Given the description of an element on the screen output the (x, y) to click on. 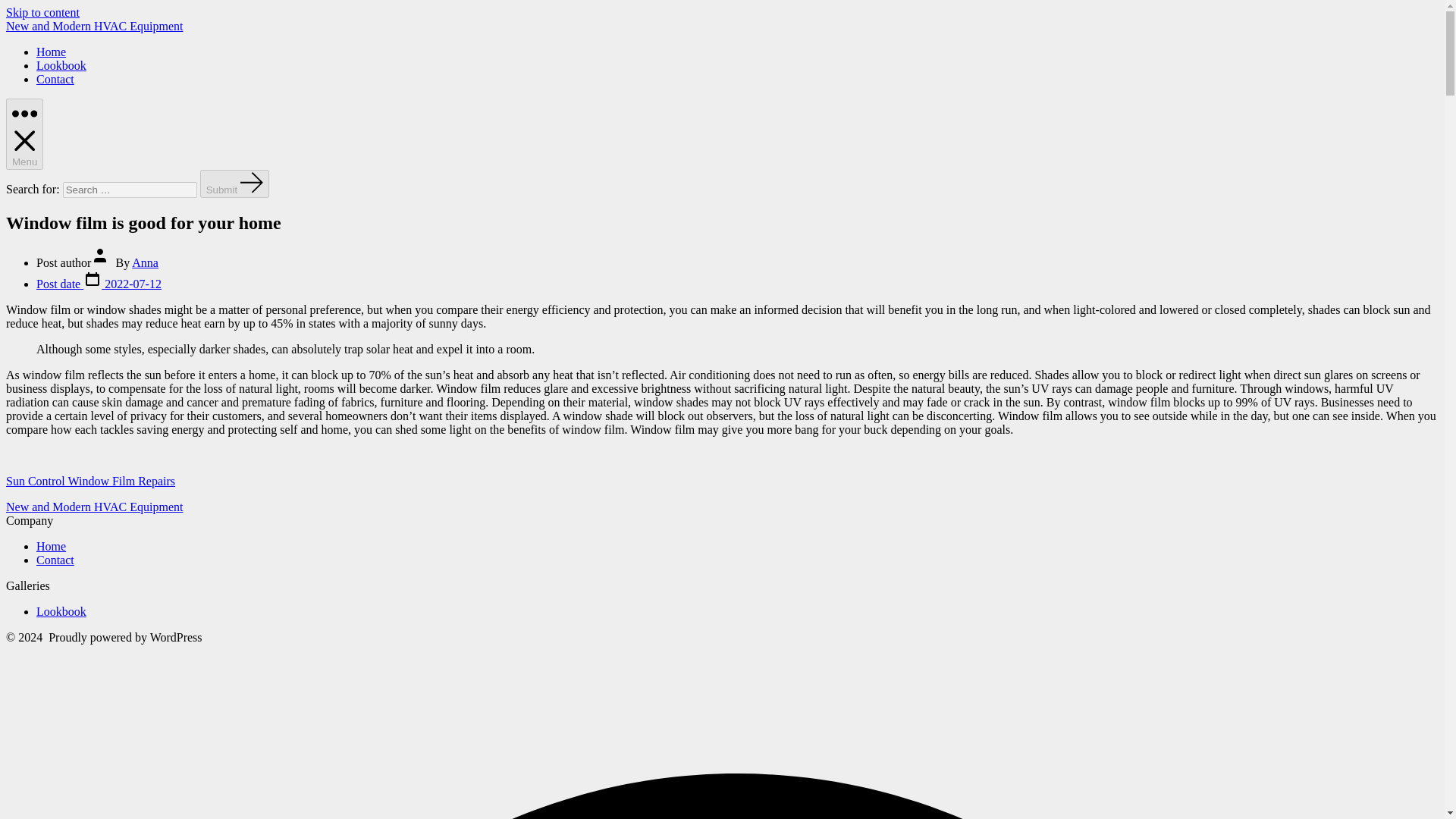
Post date 2022-07-12 (98, 283)
Contact (55, 78)
Menu (24, 133)
Skip to content (42, 11)
New and Modern HVAC Equipment (94, 506)
Sun Control Window Film Repairs (89, 481)
Lookbook (60, 65)
Submit (234, 183)
New and Modern HVAC Equipment (94, 25)
Home (50, 545)
Home (50, 51)
Contact (55, 559)
Anna (145, 262)
Lookbook (60, 611)
